Given the description of an element on the screen output the (x, y) to click on. 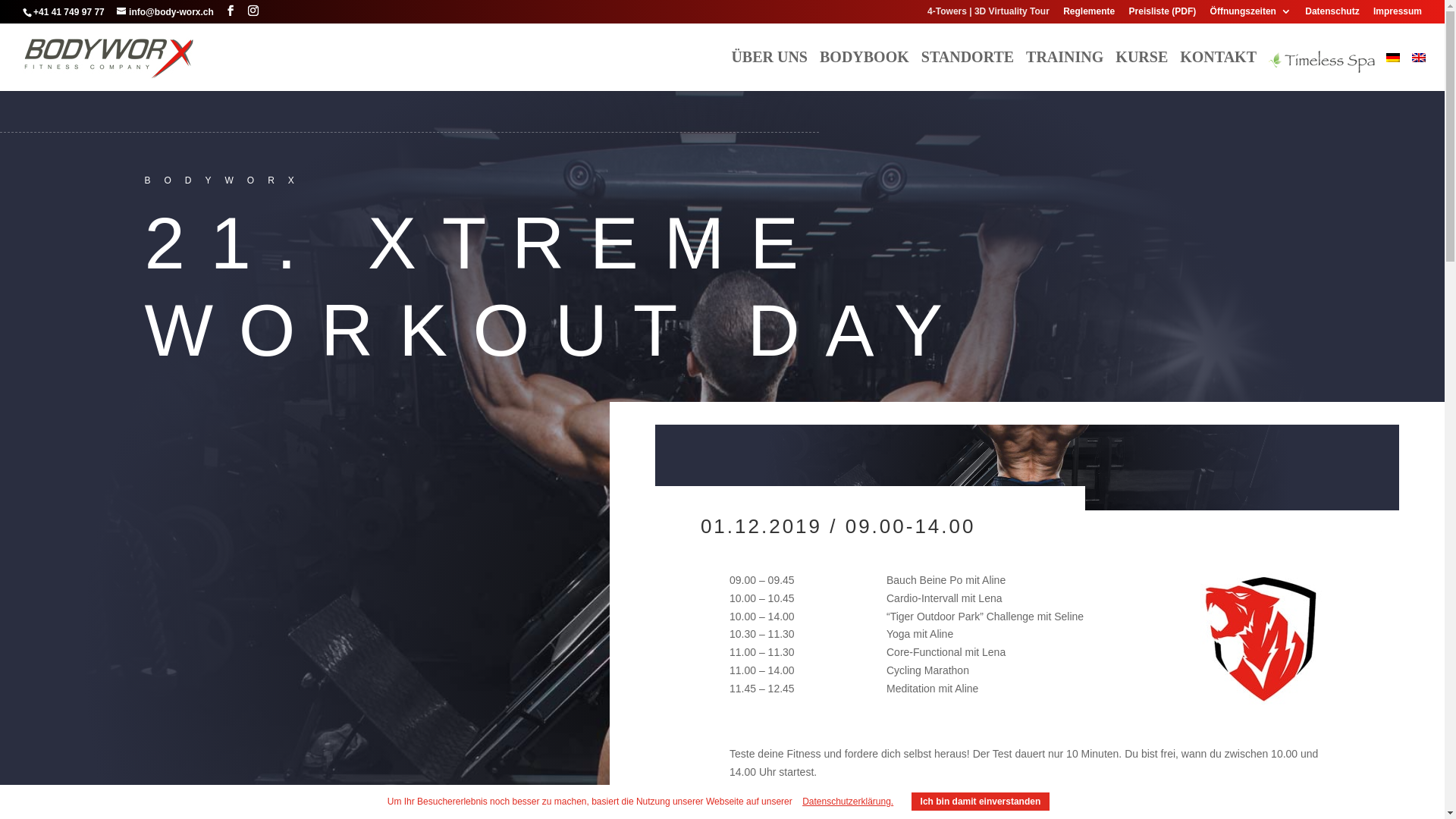
Datenschutz Element type: text (1331, 14)
info@body-worx.ch Element type: text (164, 11)
Reglemente Element type: text (1088, 14)
TRAINING Element type: text (1064, 69)
KURSE Element type: text (1141, 69)
Ich bin damit einverstanden Element type: text (980, 801)
Impressum Element type: text (1397, 14)
Preisliste (PDF) Element type: text (1162, 14)
STANDORTE Element type: text (967, 69)
KONTAKT Element type: text (1217, 69)
4-Towers | 3D Virtuality Tour Element type: text (988, 14)
BODYBOOK Element type: text (864, 69)
